Given the description of an element on the screen output the (x, y) to click on. 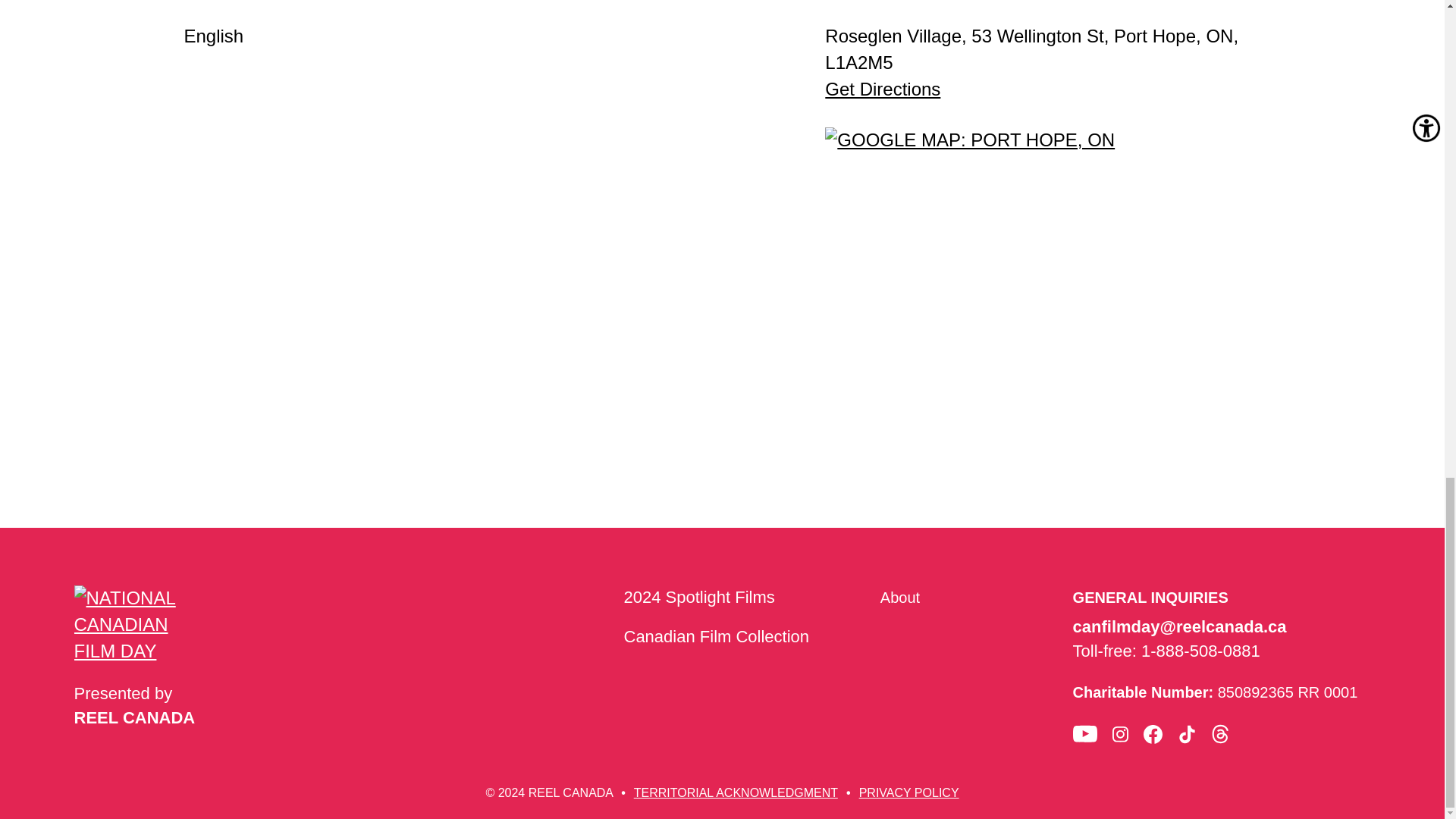
1-888-508-0881 (1200, 650)
Canadian Film Collection (716, 636)
About (900, 597)
2024 Spotlight Films (698, 597)
REEL CANADA (134, 717)
Get Directions (882, 88)
